Given the description of an element on the screen output the (x, y) to click on. 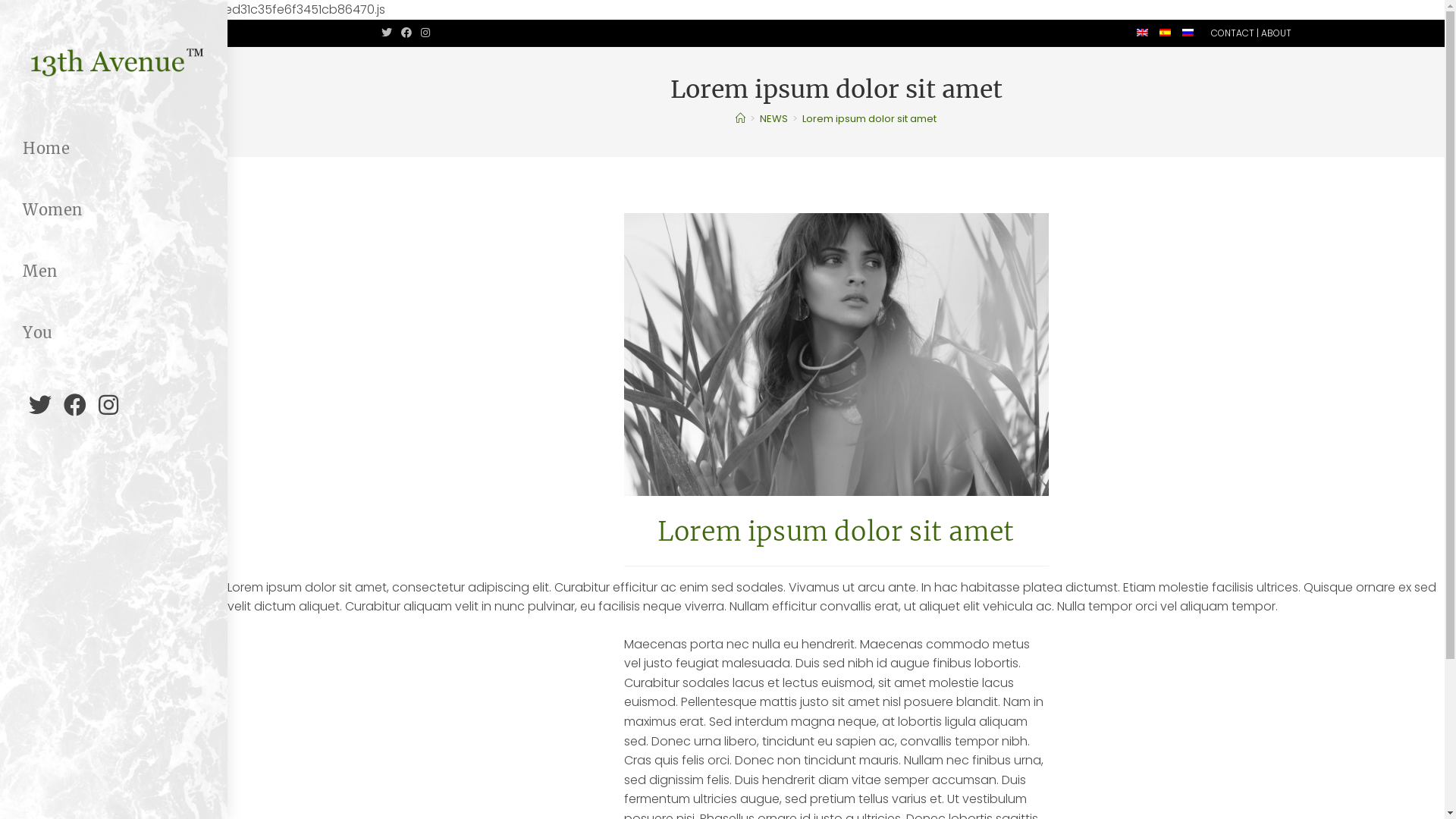
Men Element type: text (113, 271)
Lorem ipsum dolor sit amet Element type: text (869, 118)
You Element type: text (113, 332)
CONTACT Element type: text (1231, 32)
NEWS Element type: text (773, 118)
Women Element type: text (113, 209)
Home Element type: text (113, 148)
ABOUT Element type: text (1275, 32)
